Given the description of an element on the screen output the (x, y) to click on. 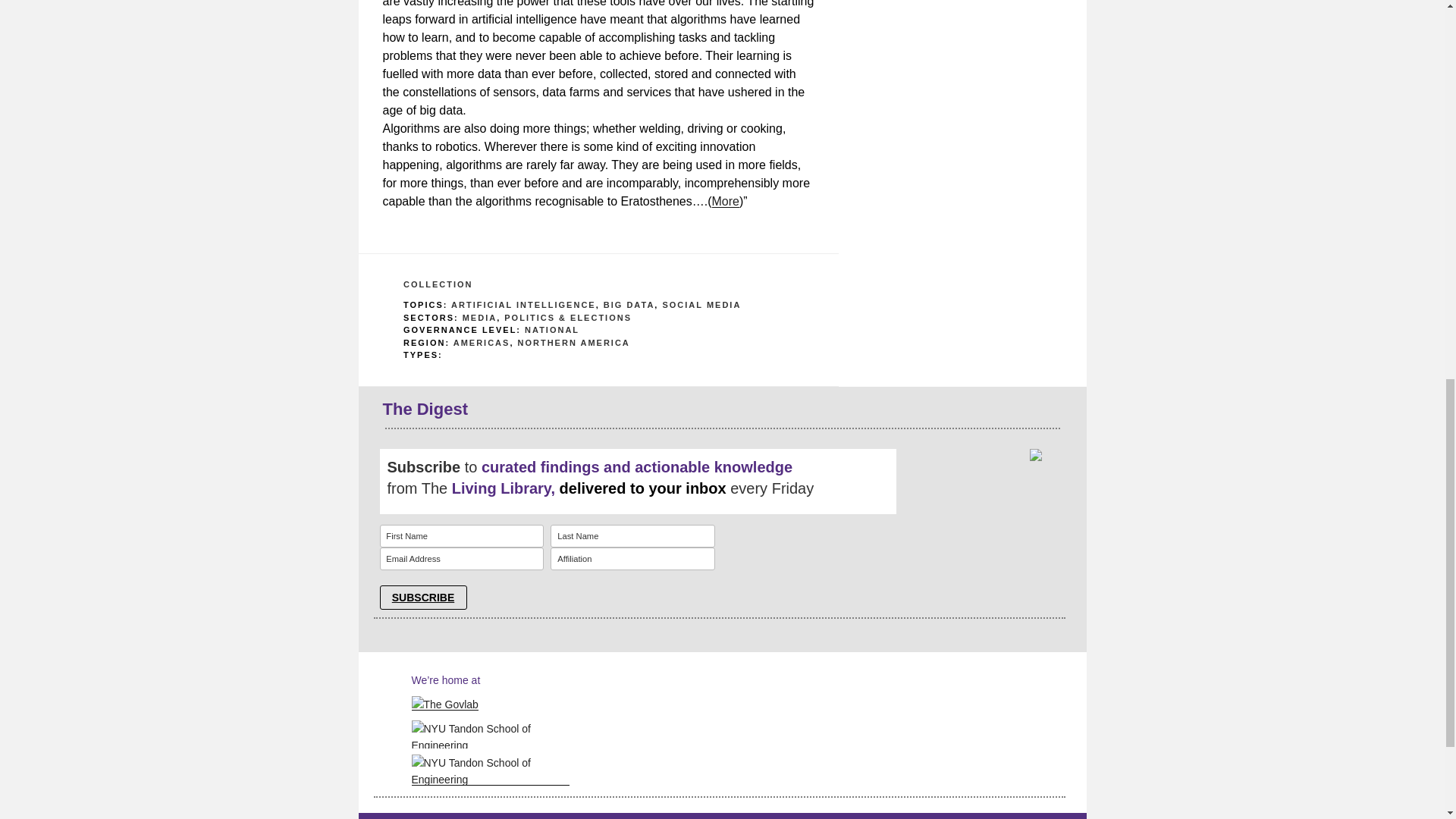
SUBSCRIBE (421, 597)
COLLECTION (438, 284)
NORTHERN AMERICA (572, 342)
MEDIA (479, 317)
BIG DATA (629, 304)
SUBSCRIBE (421, 597)
ARTIFICIAL INTELLIGENCE (523, 304)
More (725, 201)
NATIONAL (551, 329)
AMERICAS (481, 342)
